Given the description of an element on the screen output the (x, y) to click on. 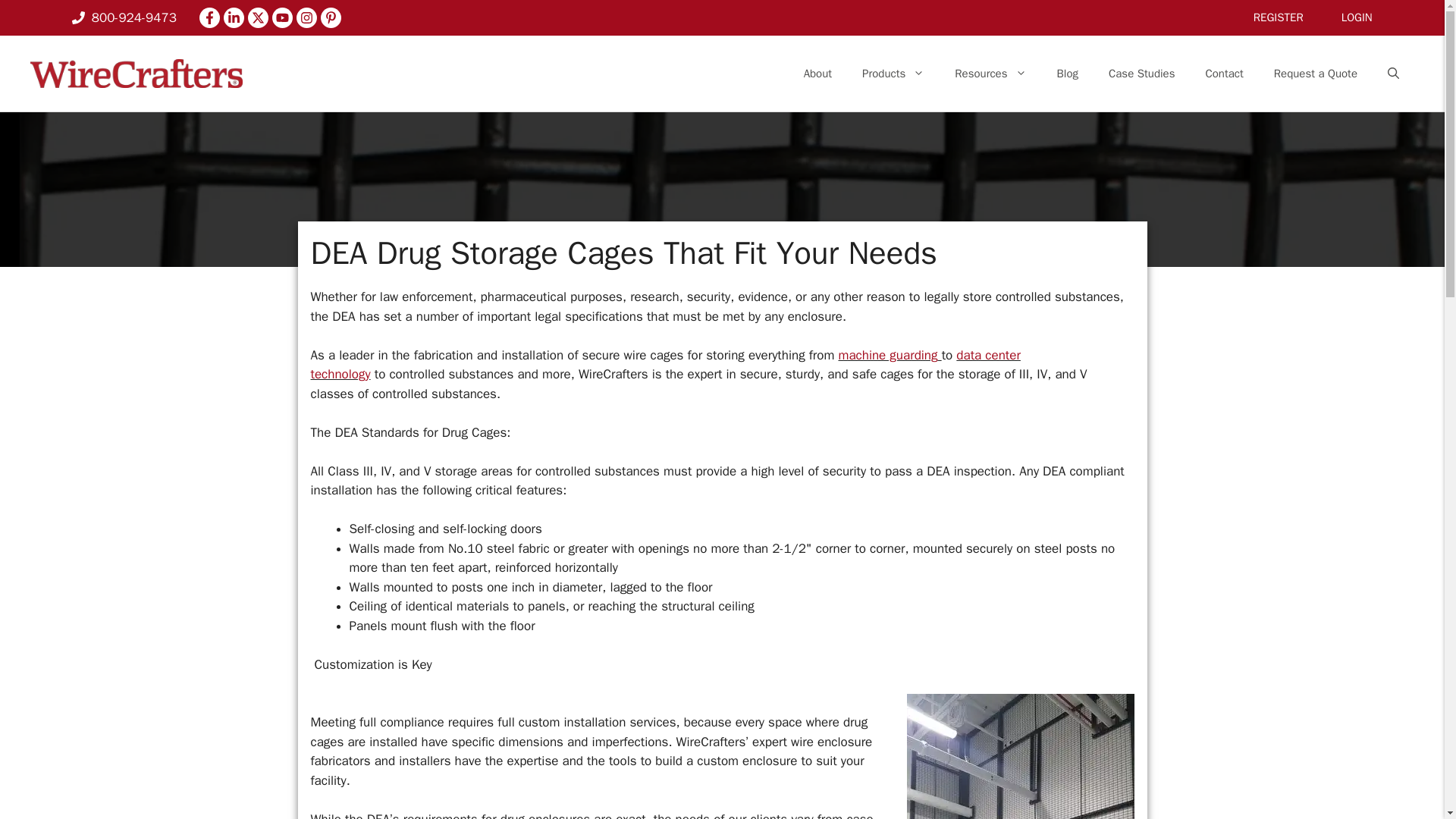
800-924-9473 (123, 17)
REGISTER (1278, 17)
About (818, 73)
LOGIN (1356, 17)
Products (893, 73)
